Given the description of an element on the screen output the (x, y) to click on. 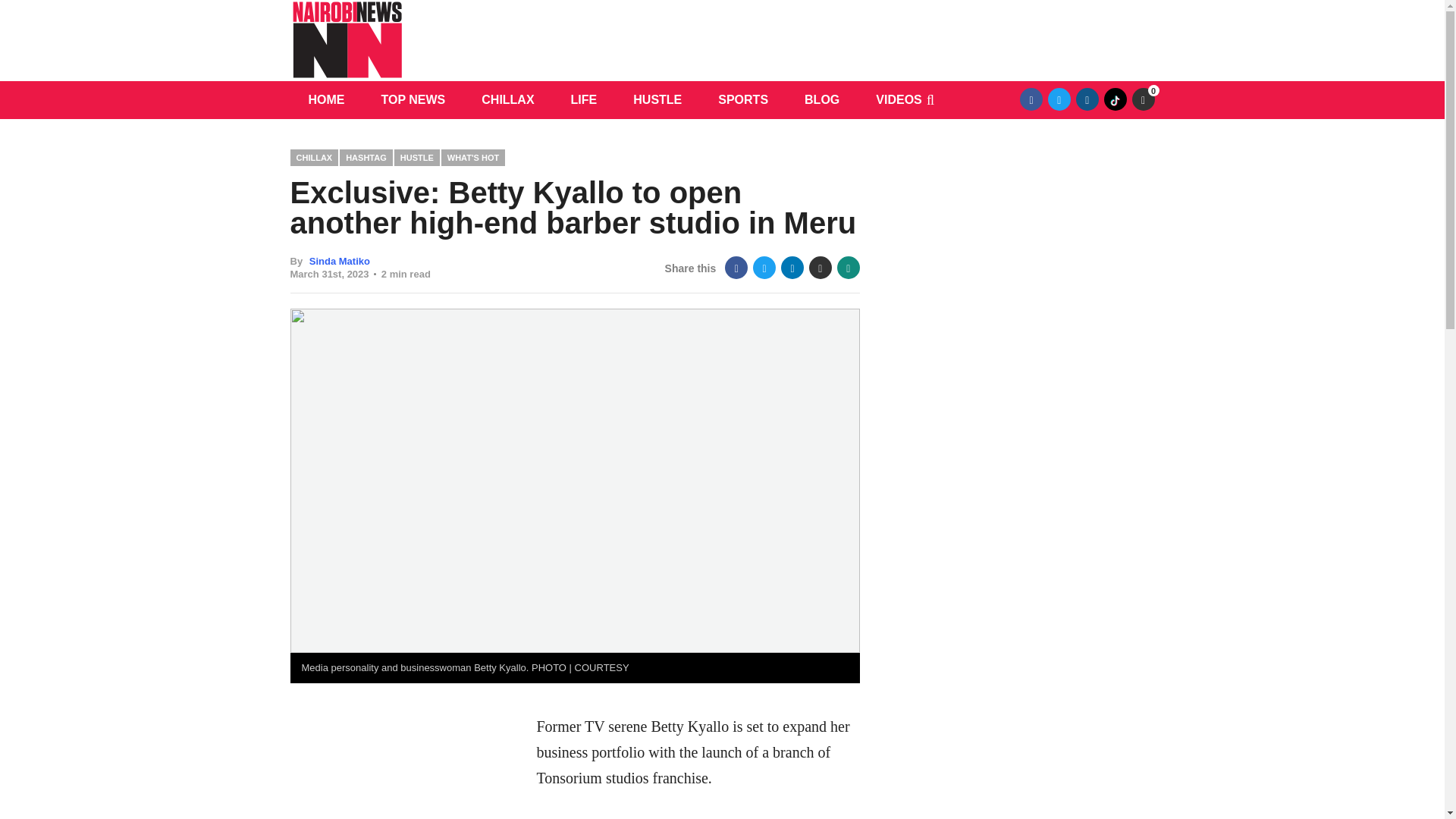
Email (820, 267)
VIDEOS (898, 99)
HASHTAG (366, 157)
WHAT'S HOT (472, 157)
HOME (325, 99)
SPORTS (743, 99)
LinkedIn (791, 267)
TikTok (1114, 98)
TOP NEWS (412, 99)
HUSTLE (416, 157)
BLOG (821, 99)
Instagram (1087, 98)
WhatsApp (848, 267)
CHILLAX (507, 99)
Facebook (736, 267)
